Given the description of an element on the screen output the (x, y) to click on. 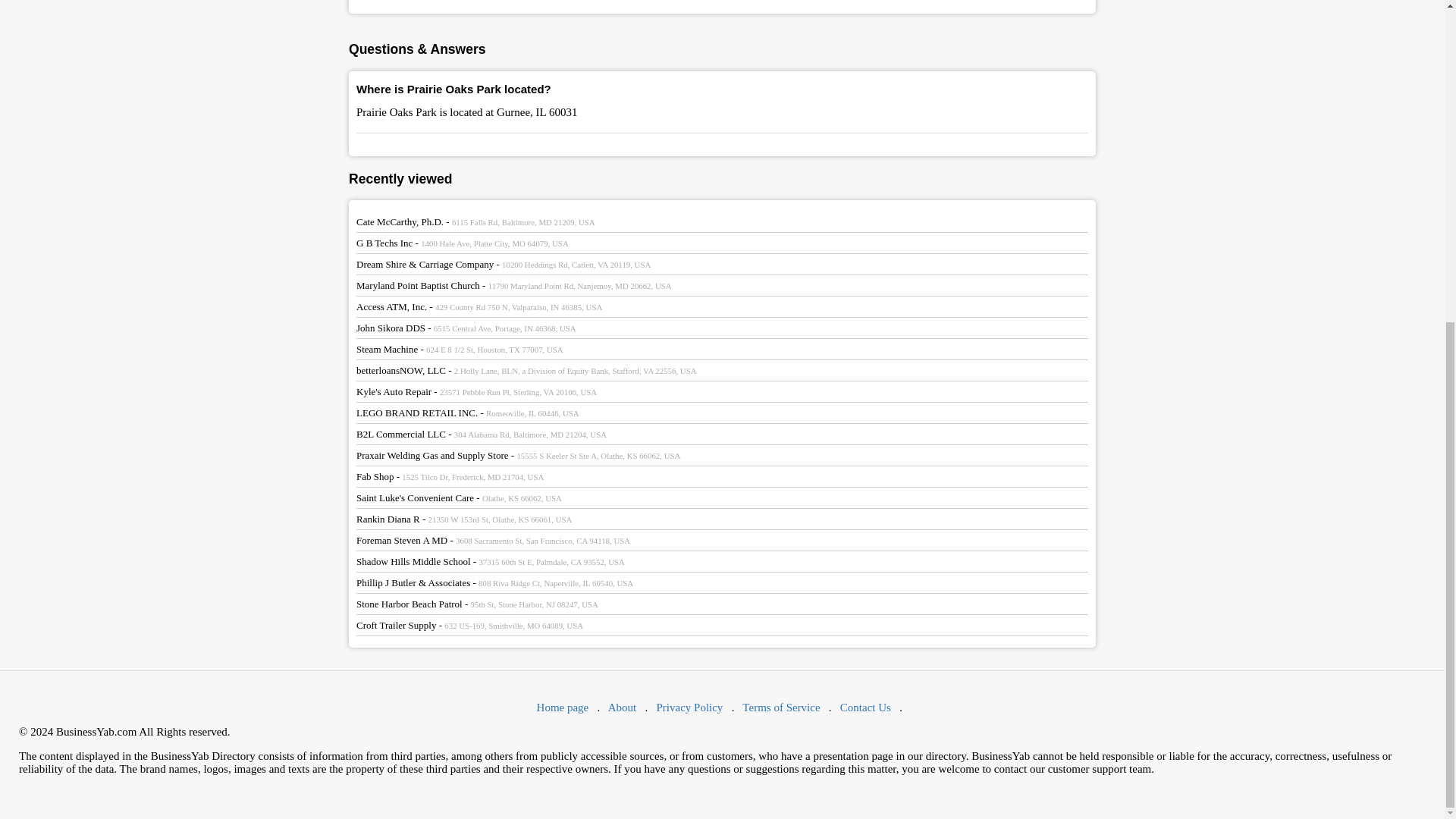
Rankin Diana R - 21350 W 153rd St, Olathe, KS 66061, USA (464, 518)
Contact Us (865, 707)
Croft Trailer Supply - 632 US-169, Smithville, MO 64089, USA (469, 624)
Fab Shop - 1525 Tilco Dr, Frederick, MD 21704, USA (449, 476)
LEGO BRAND RETAIL INC. - Romeoville, IL 60446, USA (467, 412)
Privacy Policy (689, 707)
Terms of Service (780, 707)
Home page (563, 707)
Saint Luke's Convenient Care - Olathe, KS 66062, USA (459, 497)
